Given the description of an element on the screen output the (x, y) to click on. 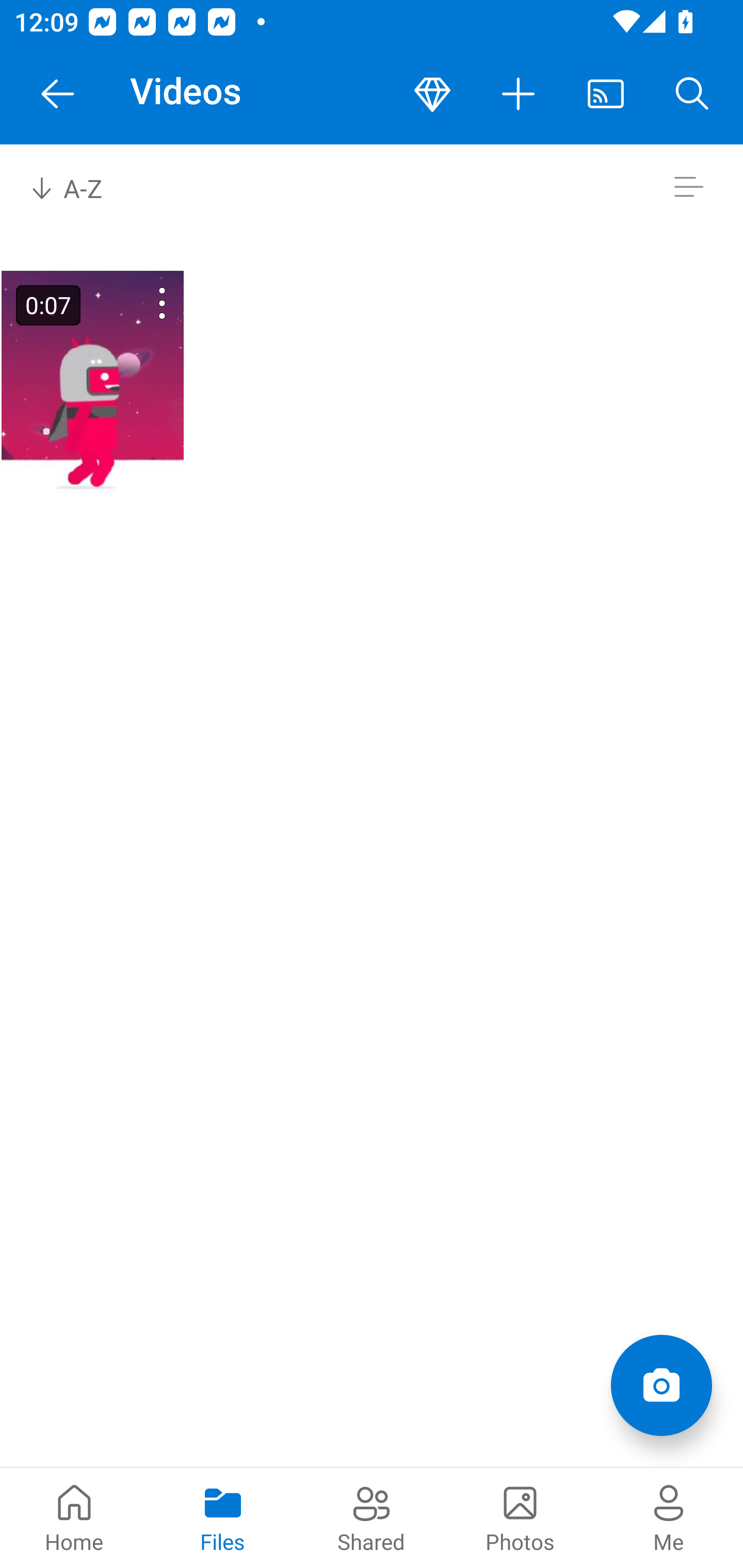
Navigate Up (57, 93)
Cast. Disconnected (605, 93)
Premium button (432, 93)
More actions button (518, 93)
Search button (692, 93)
A-Z Sort by combo box, sort by name, A to Z (80, 187)
Switch to list view (688, 187)
VID_20240428_112341 commands (136, 303)
Add items Scan (660, 1385)
Home pivot Home (74, 1517)
Shared pivot Shared (371, 1517)
Photos pivot Photos (519, 1517)
Me pivot Me (668, 1517)
